Given the description of an element on the screen output the (x, y) to click on. 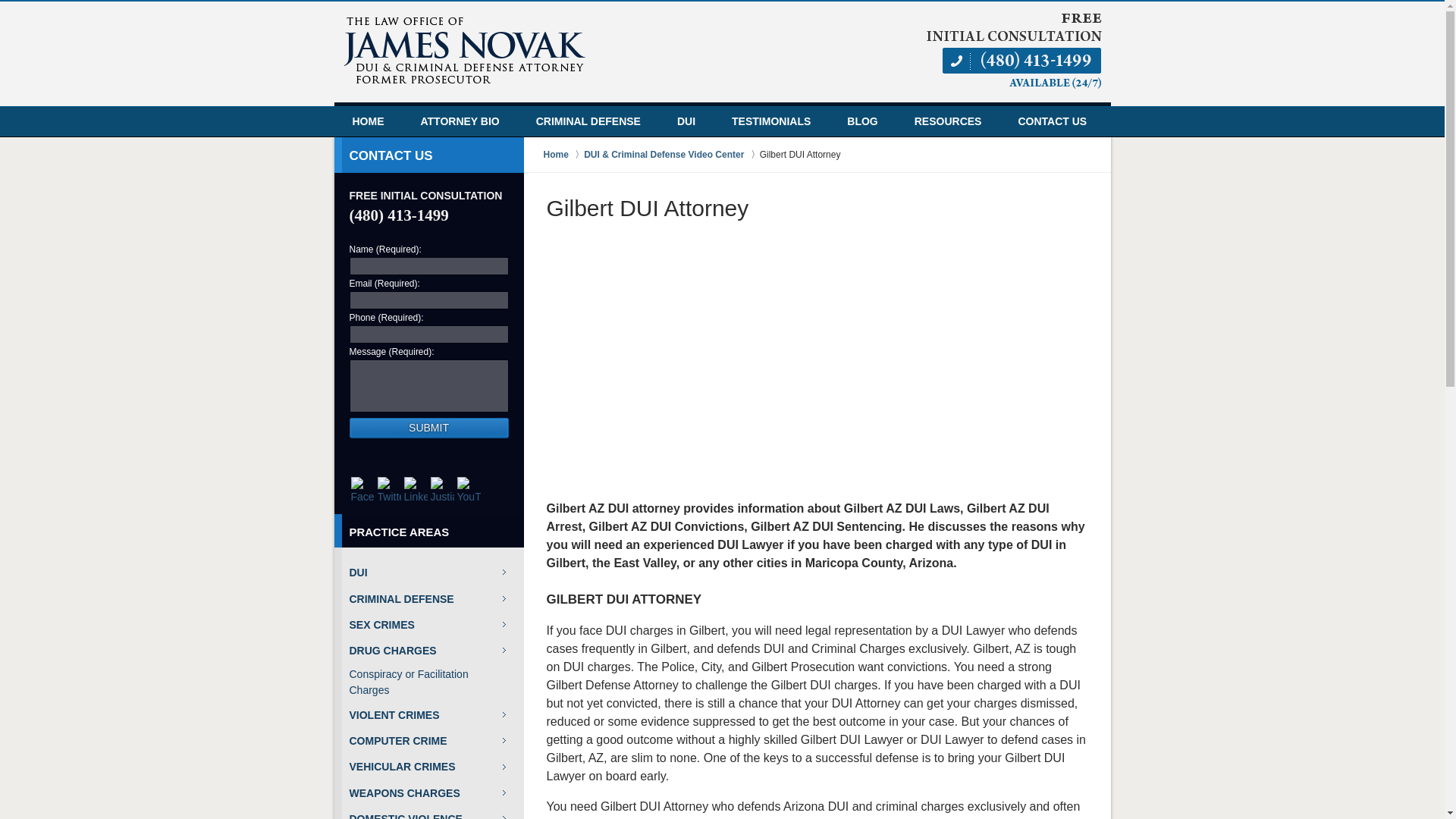
YouTube (467, 488)
CONTACT US (1051, 121)
Contact Law Office of James Novak (1013, 50)
TESTIMONIALS (770, 121)
Facebook (362, 488)
LinkedIn (414, 488)
Justia (442, 488)
RESOURCES (948, 121)
HOME (367, 121)
DUI (686, 121)
